Given the description of an element on the screen output the (x, y) to click on. 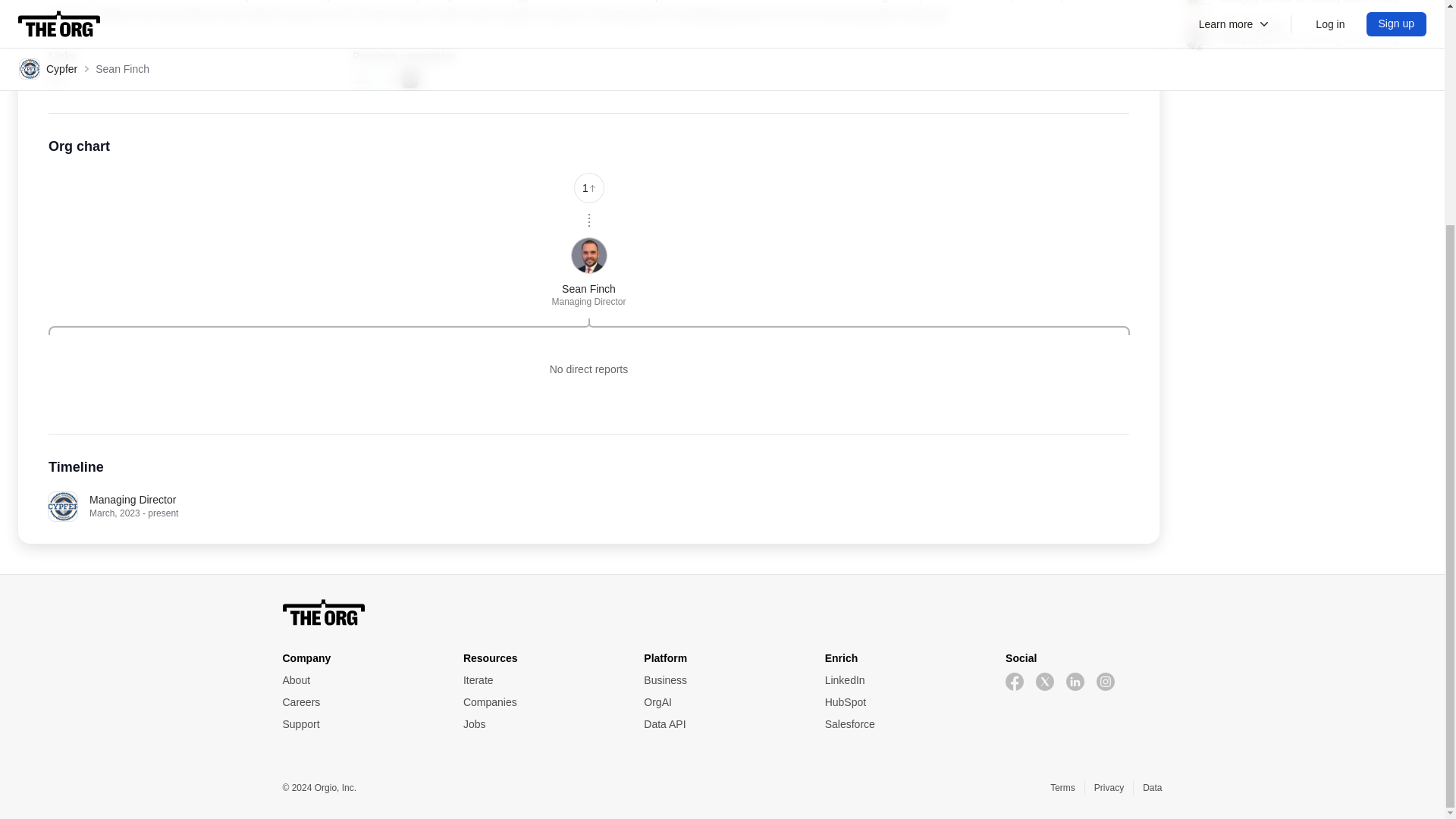
Lockton Companies (361, 79)
About (360, 680)
Jobs (541, 724)
The Org logo (721, 611)
Data API (721, 724)
CFC (385, 79)
Data (1151, 786)
Companies (1304, 4)
1 (541, 701)
